Given the description of an element on the screen output the (x, y) to click on. 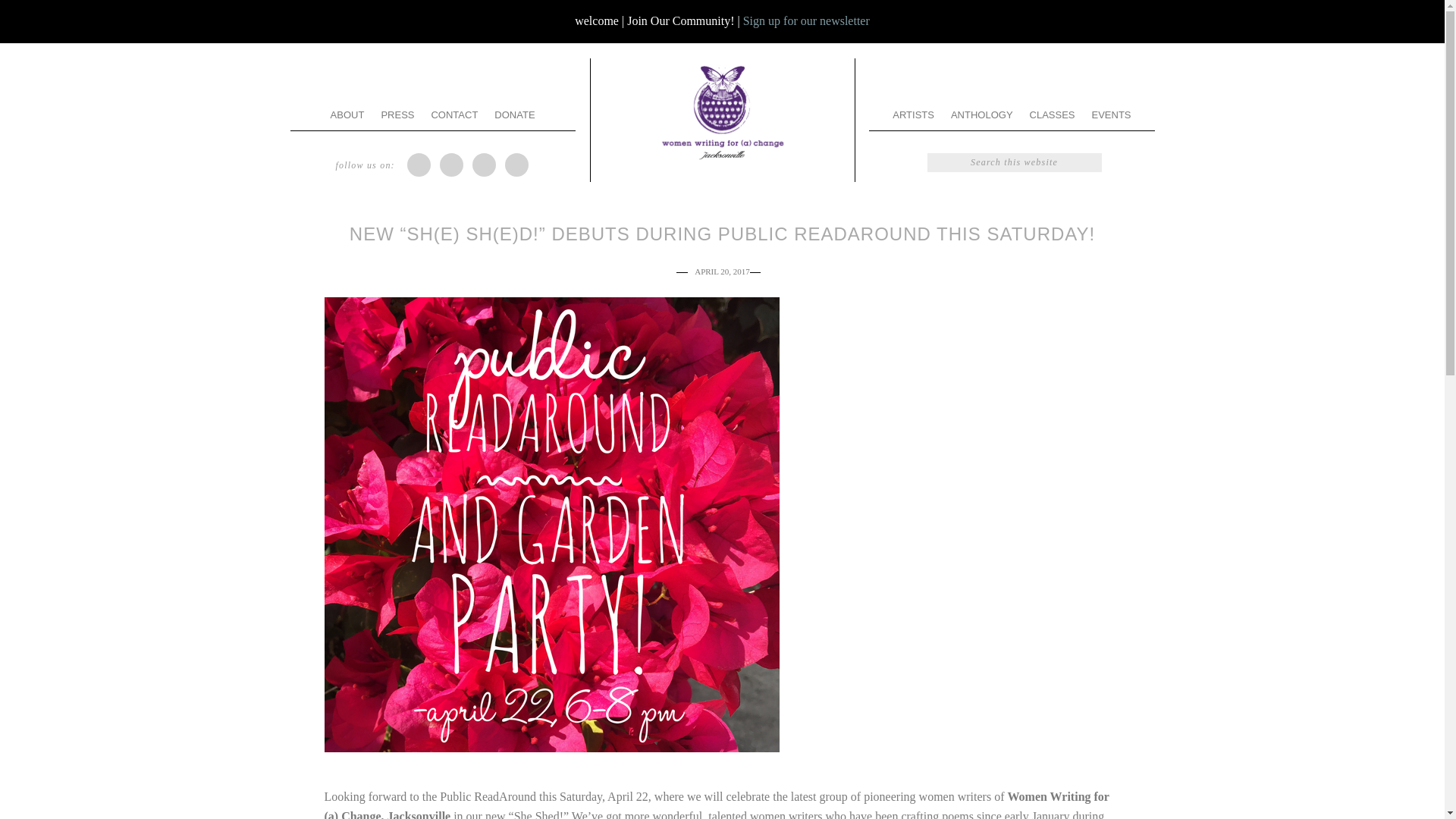
ARTISTS (912, 113)
ANTHOLOGY (982, 113)
CLASSES (1052, 113)
Sign up for our newsletter (805, 20)
CONTACT (454, 113)
ABOUT (346, 113)
PRESS (397, 113)
DONATE (514, 113)
EVENTS (1111, 113)
